Given the description of an element on the screen output the (x, y) to click on. 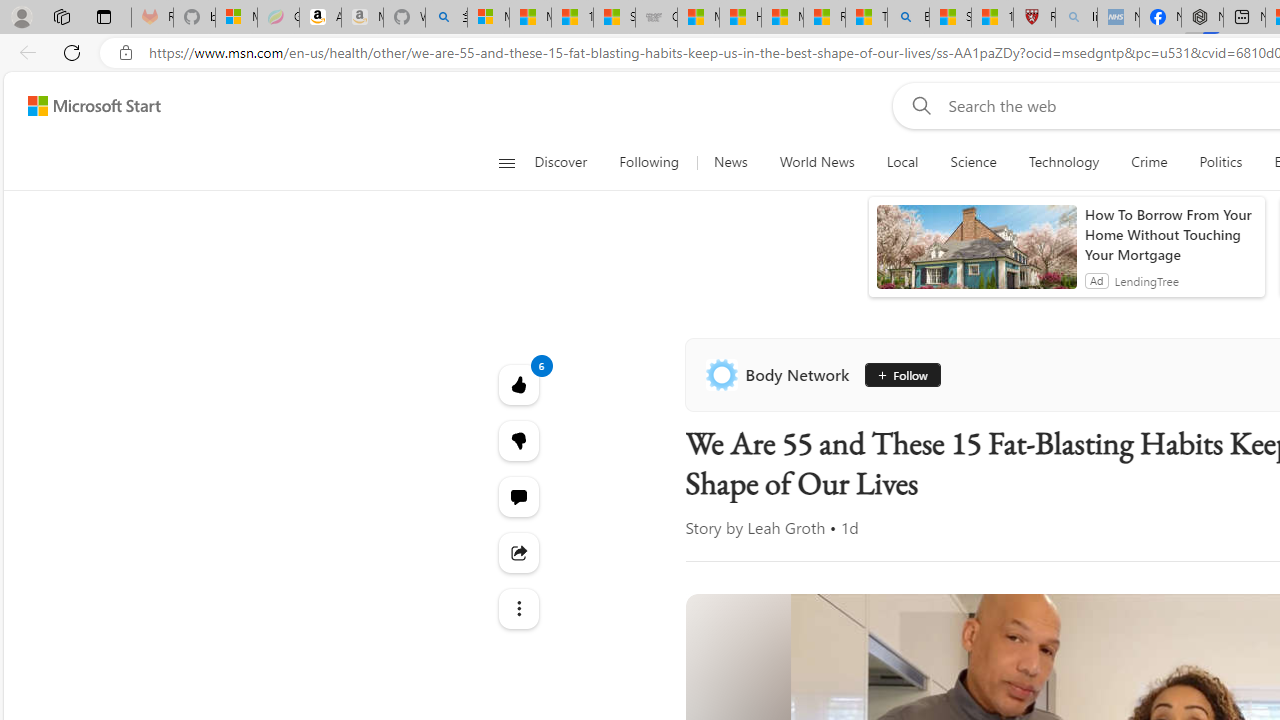
Body Network (781, 374)
Robert H. Shmerling, MD - Harvard Health (1033, 17)
6 (517, 440)
